Given the description of an element on the screen output the (x, y) to click on. 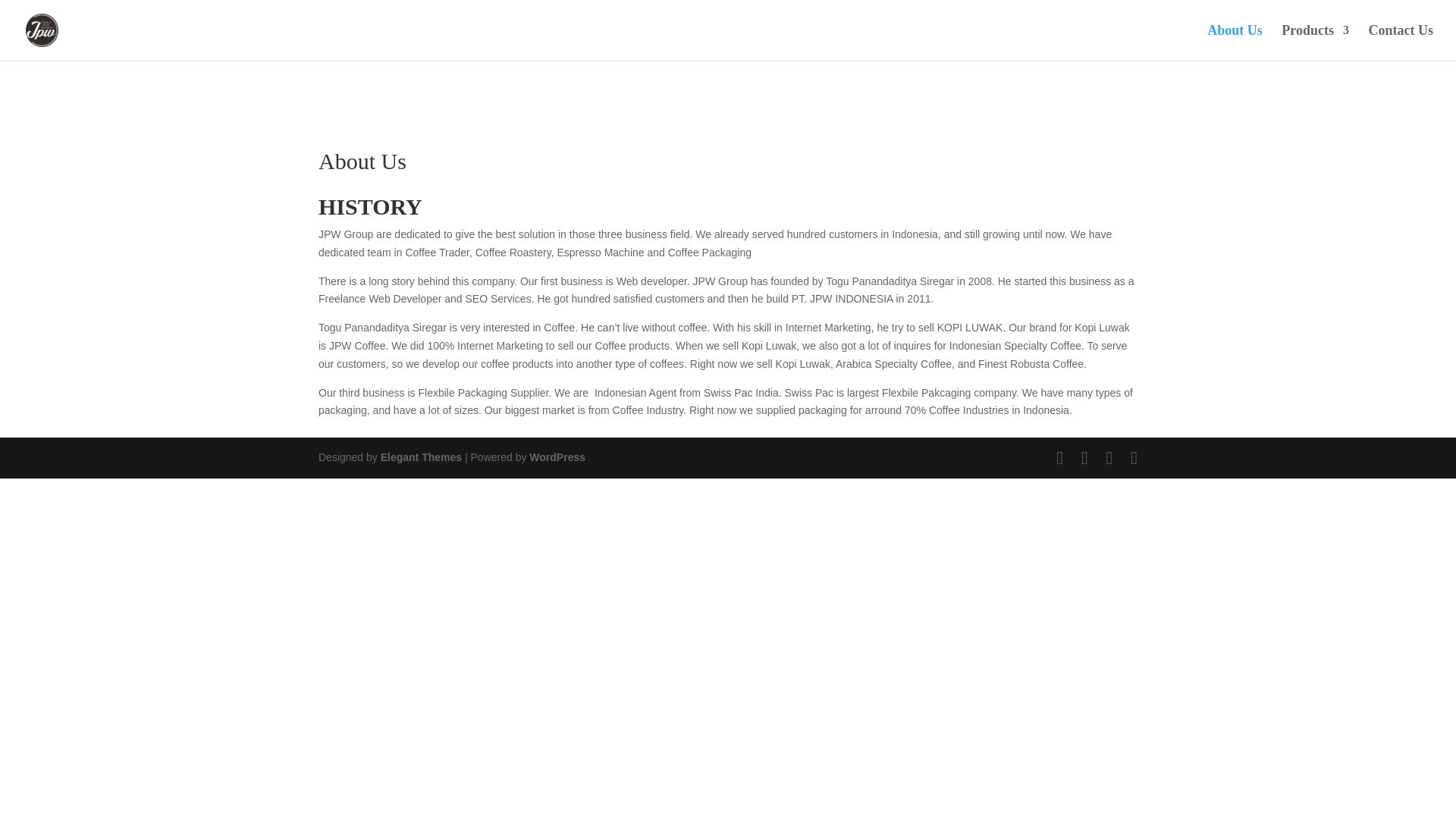
Premium WordPress Themes (420, 457)
About Us (1234, 42)
Products (1315, 42)
Elegant Themes (420, 457)
WordPress (557, 457)
Contact Us (1400, 42)
